Given the description of an element on the screen output the (x, y) to click on. 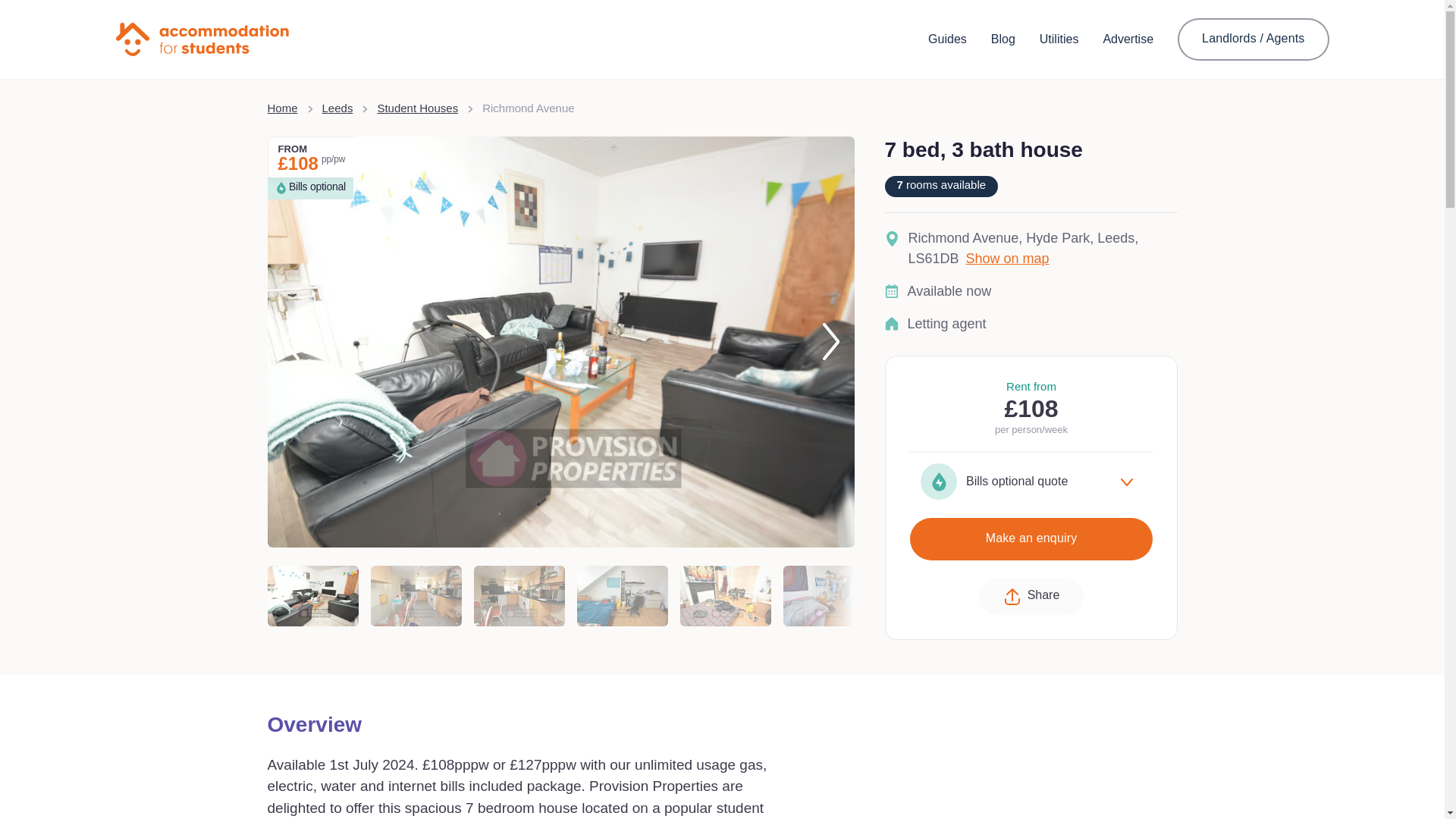
Blog (1002, 39)
Utilities (1058, 39)
Bills optional quote (1031, 481)
Home (281, 107)
Show on map (1007, 258)
Make an enquiry (1031, 538)
Accommodation for Students (201, 39)
Share (1030, 596)
Student Houses (417, 107)
Advertise (1127, 39)
Guides (947, 39)
Leeds (337, 107)
